Given the description of an element on the screen output the (x, y) to click on. 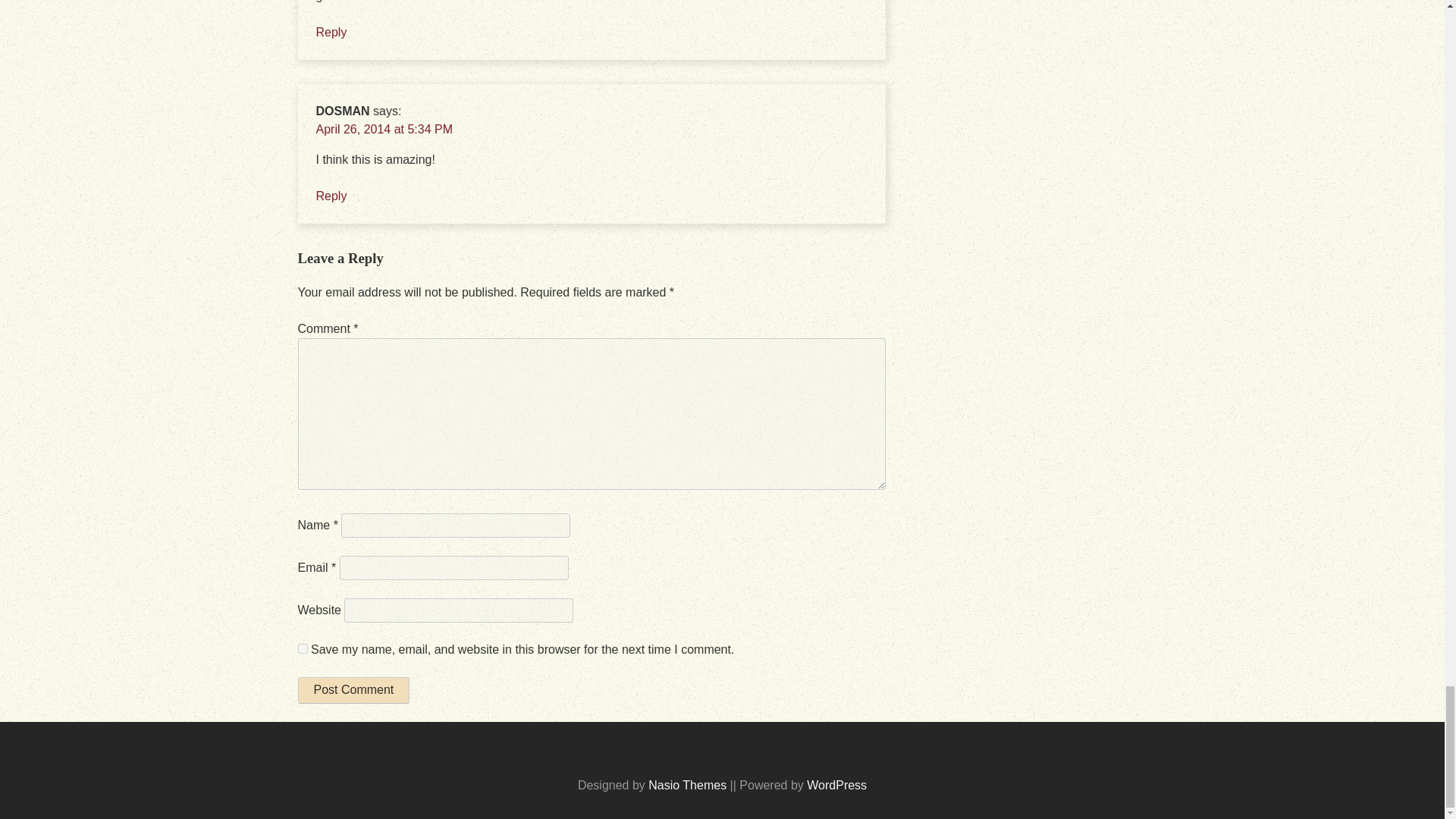
yes (302, 648)
Post Comment (353, 690)
